Given the description of an element on the screen output the (x, y) to click on. 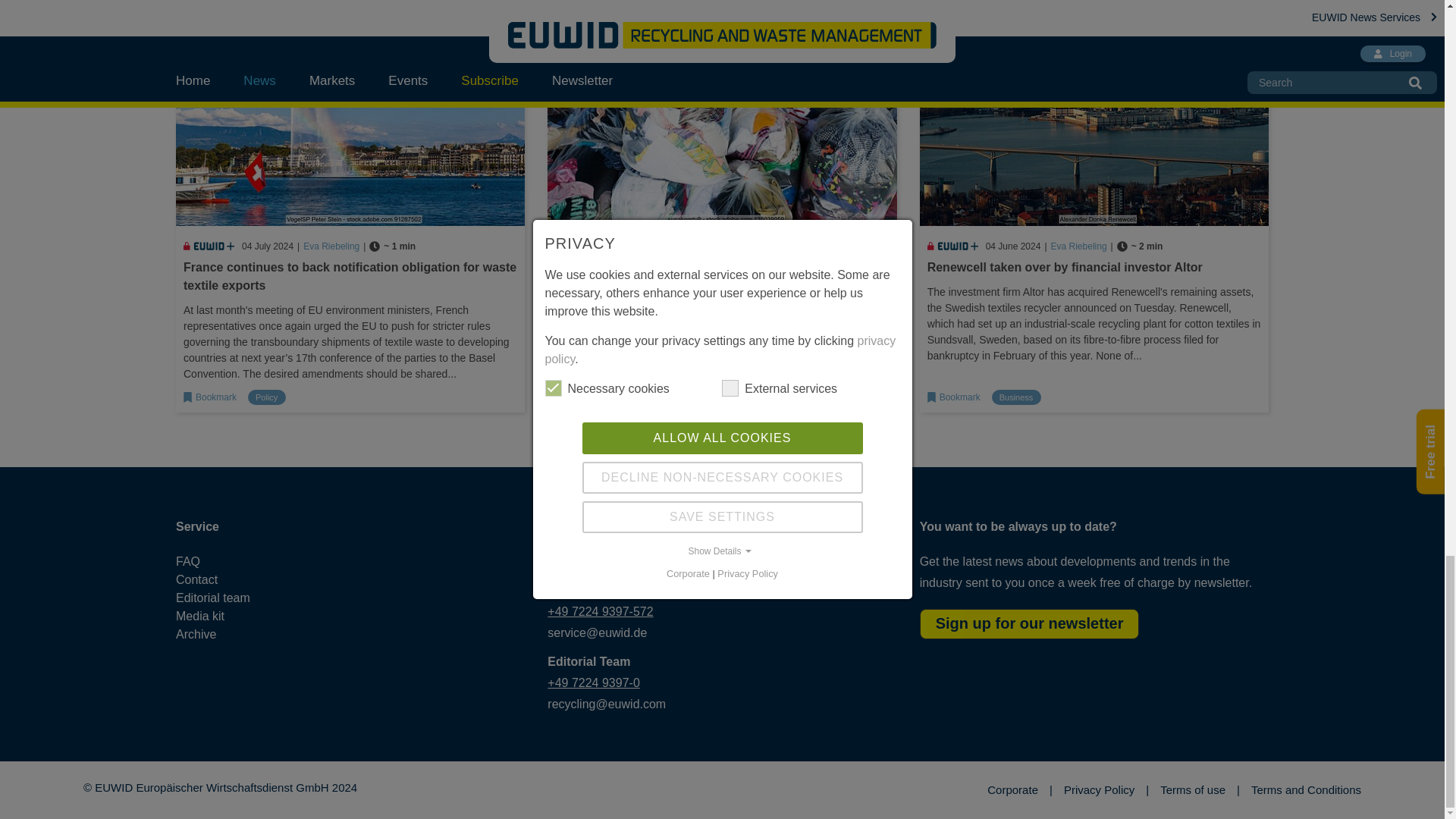
Terms and Conditions (1305, 790)
138 Sekunden (1139, 246)
Media kit (226, 616)
125 Sekunden (708, 246)
Editorial team (226, 597)
Corporate (1019, 790)
Contact (226, 579)
Renewcells Sundsvall plant (1094, 113)
Privacy Policy (1106, 790)
Terms of use (1200, 790)
57 Sekunden (391, 246)
FAQ (226, 561)
